Given the description of an element on the screen output the (x, y) to click on. 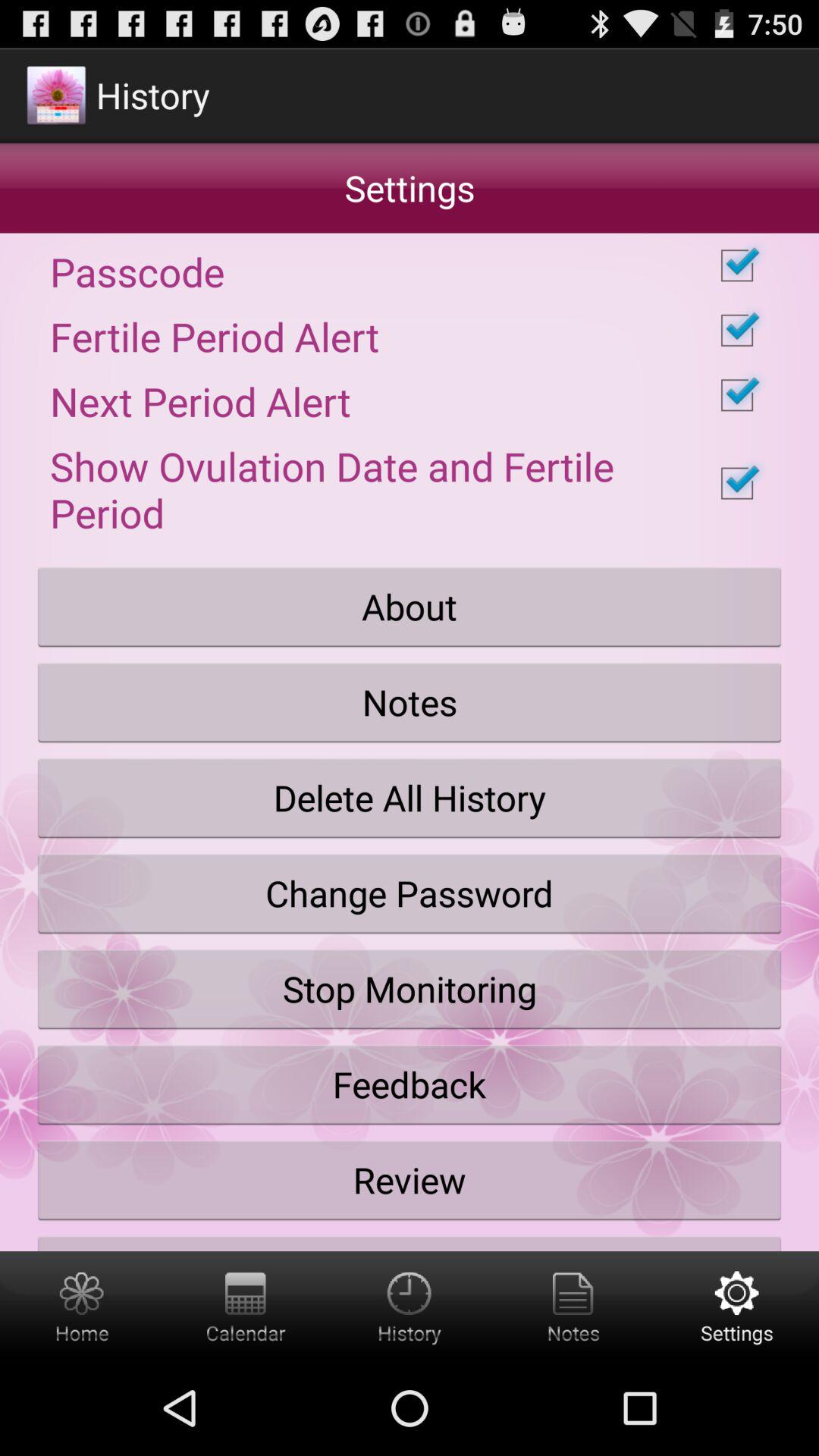
turn on the item below the feedback icon (409, 1179)
